Given the description of an element on the screen output the (x, y) to click on. 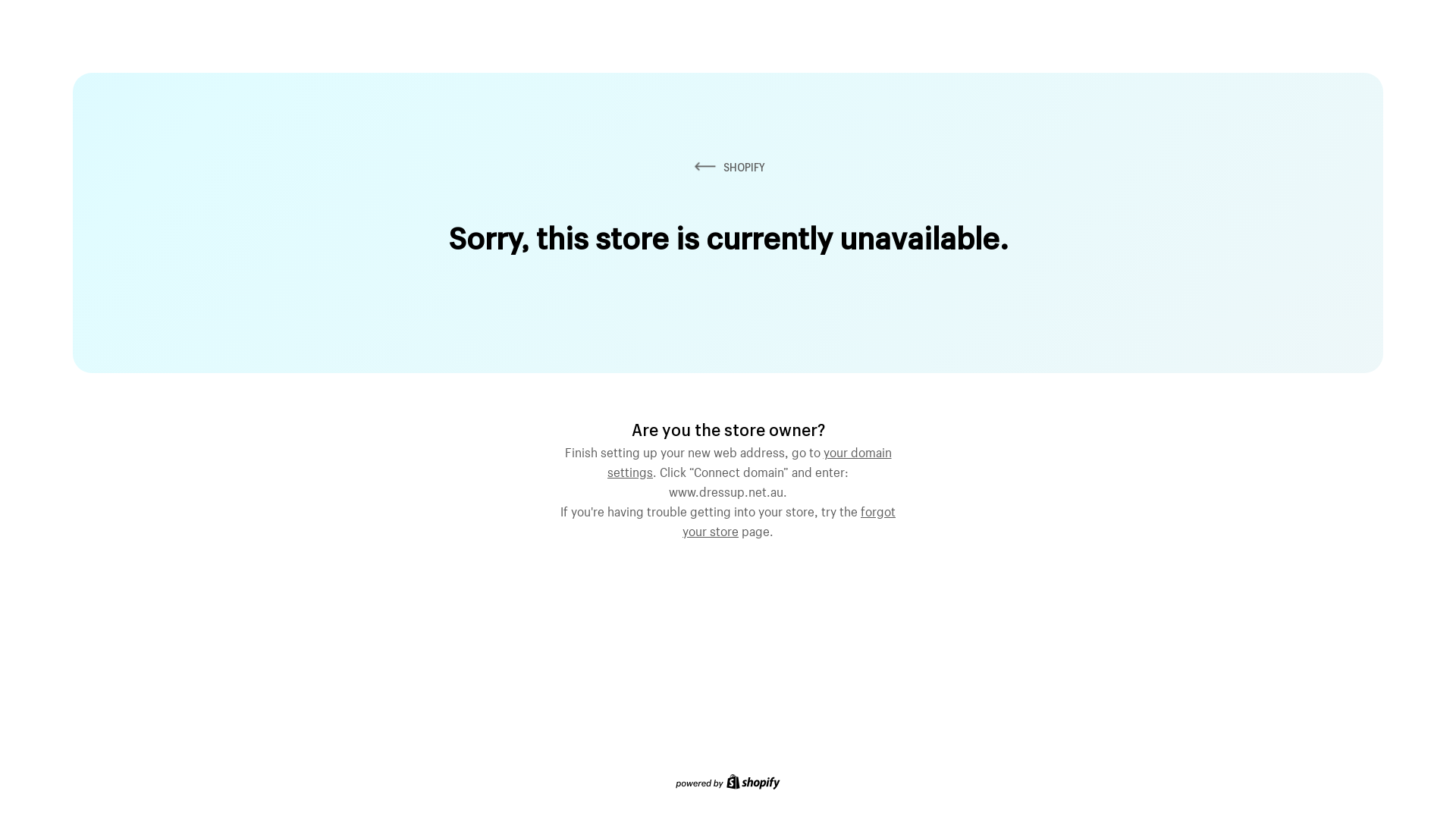
forgot your store Element type: text (788, 519)
SHOPIFY Element type: text (727, 167)
your domain settings Element type: text (749, 460)
